Given the description of an element on the screen output the (x, y) to click on. 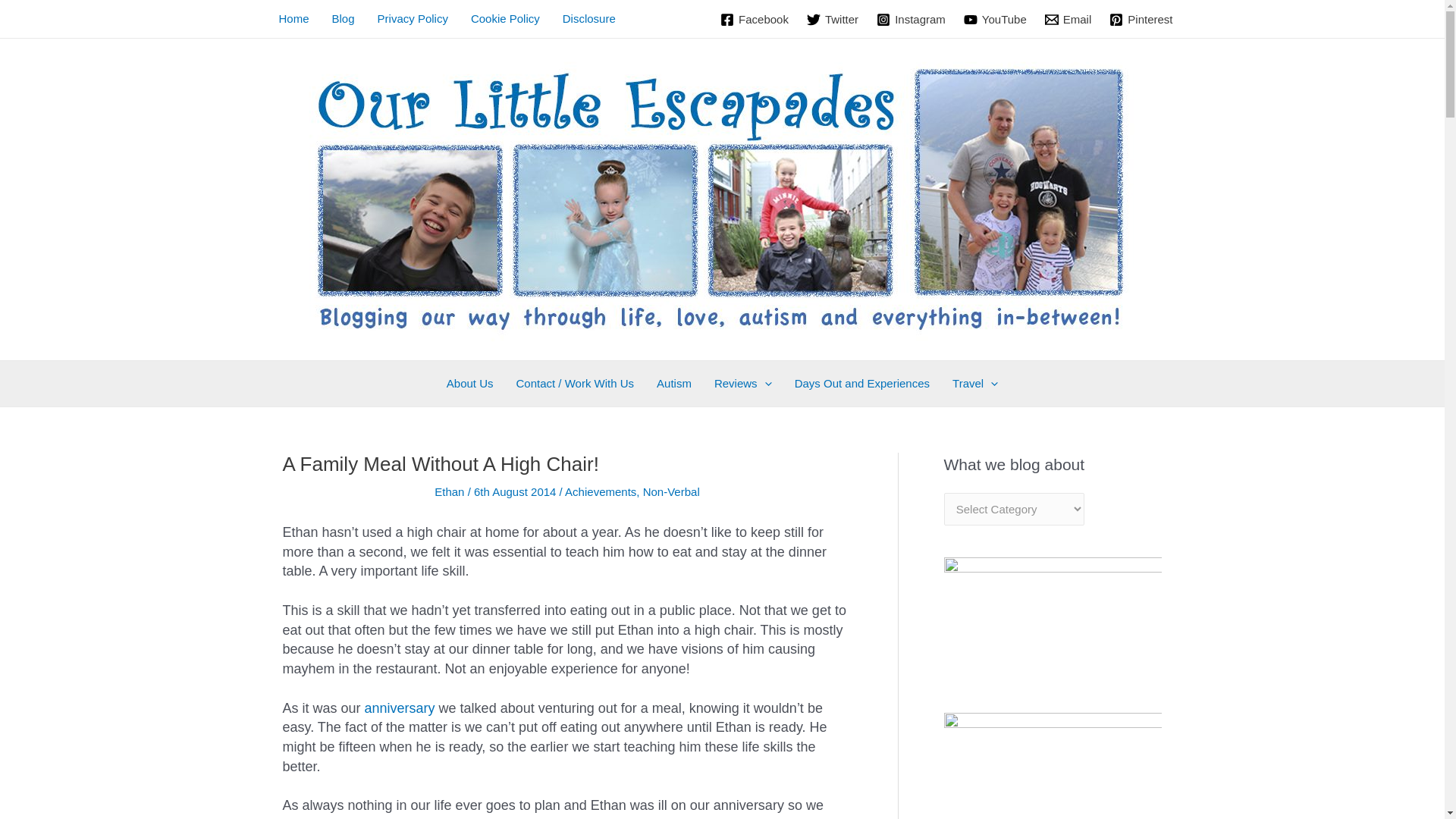
Blog (343, 18)
Cookie Policy (505, 18)
Privacy Policy (413, 18)
Facebook (754, 19)
YouTube (994, 19)
Autism (674, 383)
Days Out and Experiences (861, 383)
Pinterest (1140, 19)
Email (1068, 19)
Twitter (832, 19)
